Given the description of an element on the screen output the (x, y) to click on. 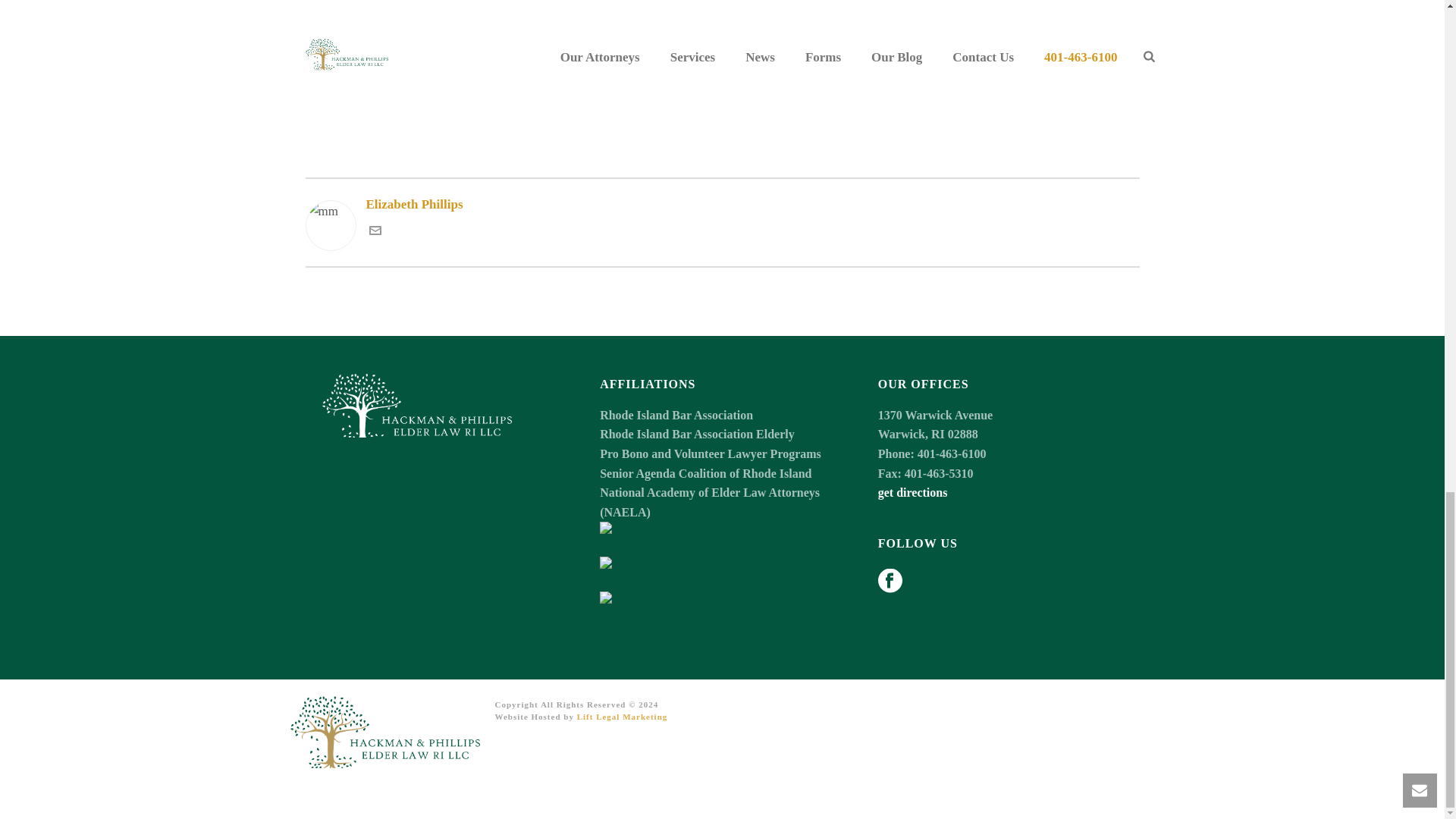
Follow Us on facebook (889, 581)
Lift Legal Marketing (622, 716)
Elizabeth Phillips (721, 204)
get directions (912, 492)
